Given the description of an element on the screen output the (x, y) to click on. 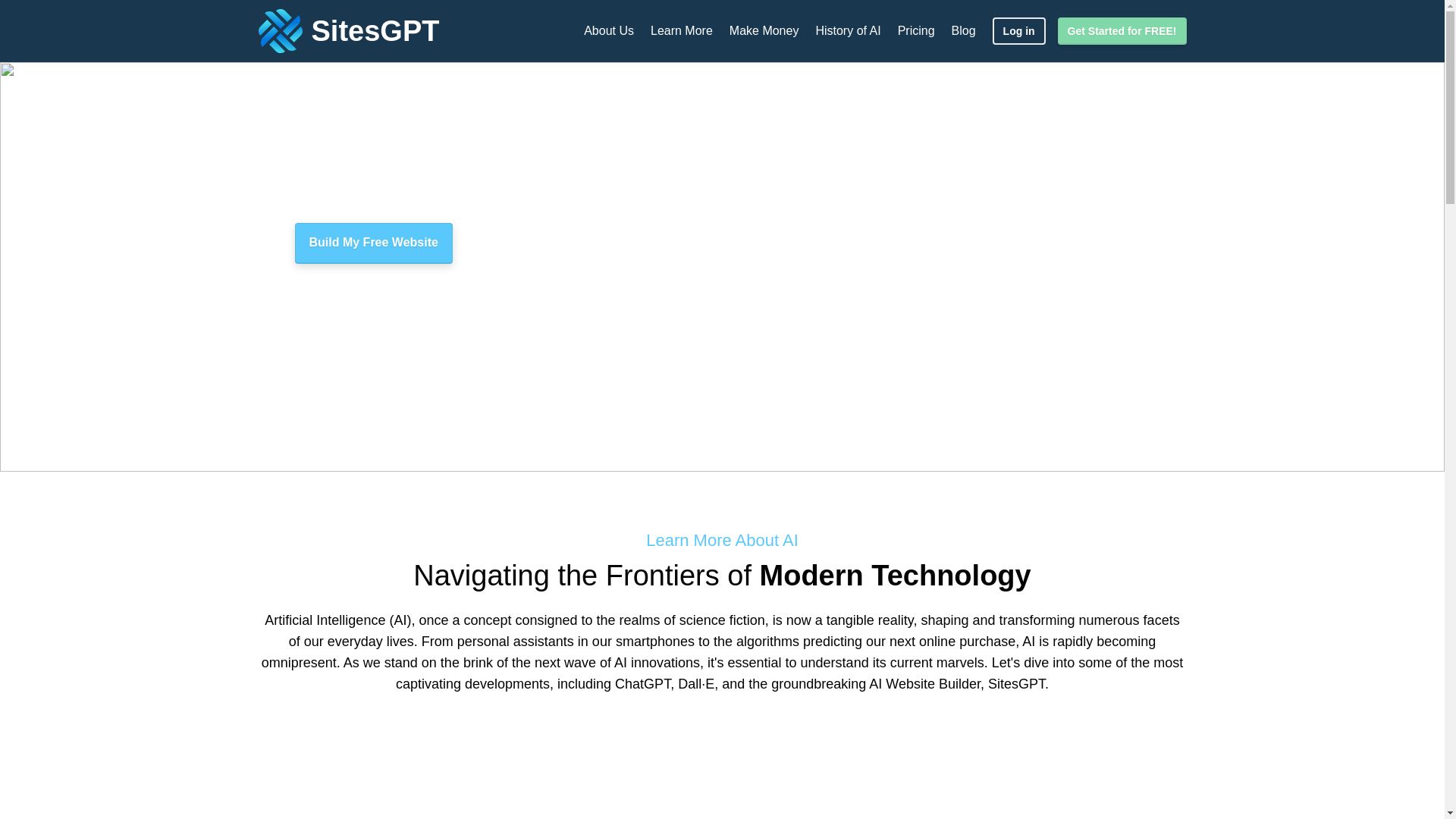
About Us (609, 31)
History of AI (847, 31)
SitesGPT (348, 31)
1. ChatGPT: The Art of Conversation (389, 817)
Pricing (916, 31)
Log in (1018, 31)
Build My Free Website (372, 242)
Make Money (764, 31)
Learn More (681, 31)
Get Started for FREE! (1122, 31)
